Given the description of an element on the screen output the (x, y) to click on. 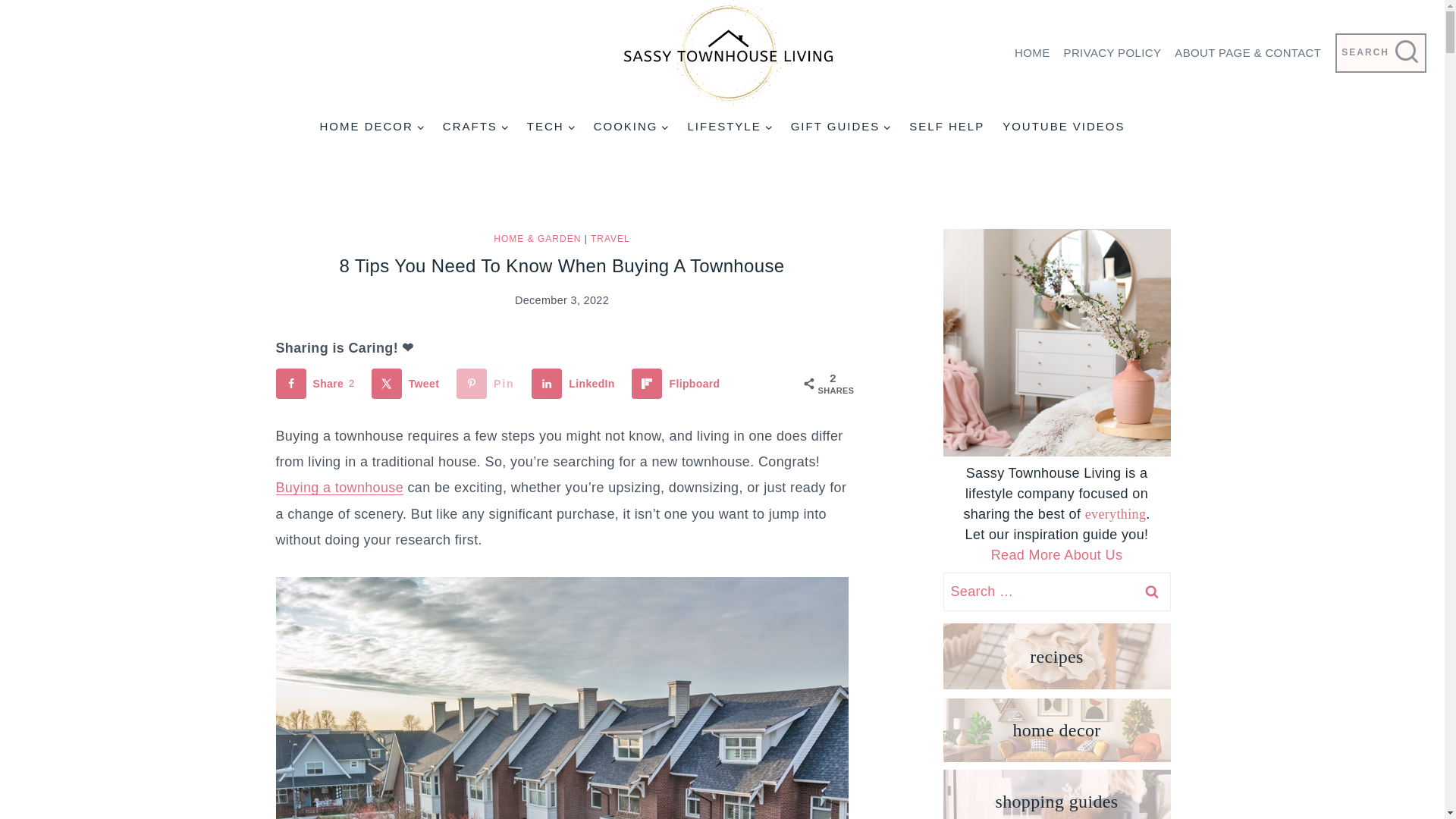
HOME DECOR (371, 126)
COOKING (631, 126)
TECH (551, 126)
PRIVACY POLICY (1113, 53)
Save to Pinterest (489, 383)
Share on Facebook (318, 383)
LIFESTYLE (729, 126)
SEARCH (1380, 52)
CRAFTS (475, 126)
HOME (1032, 53)
Search (1151, 591)
Share on LinkedIn (576, 383)
GIFT GUIDES (841, 126)
Share on Flipboard (678, 383)
Share on X (408, 383)
